Given the description of an element on the screen output the (x, y) to click on. 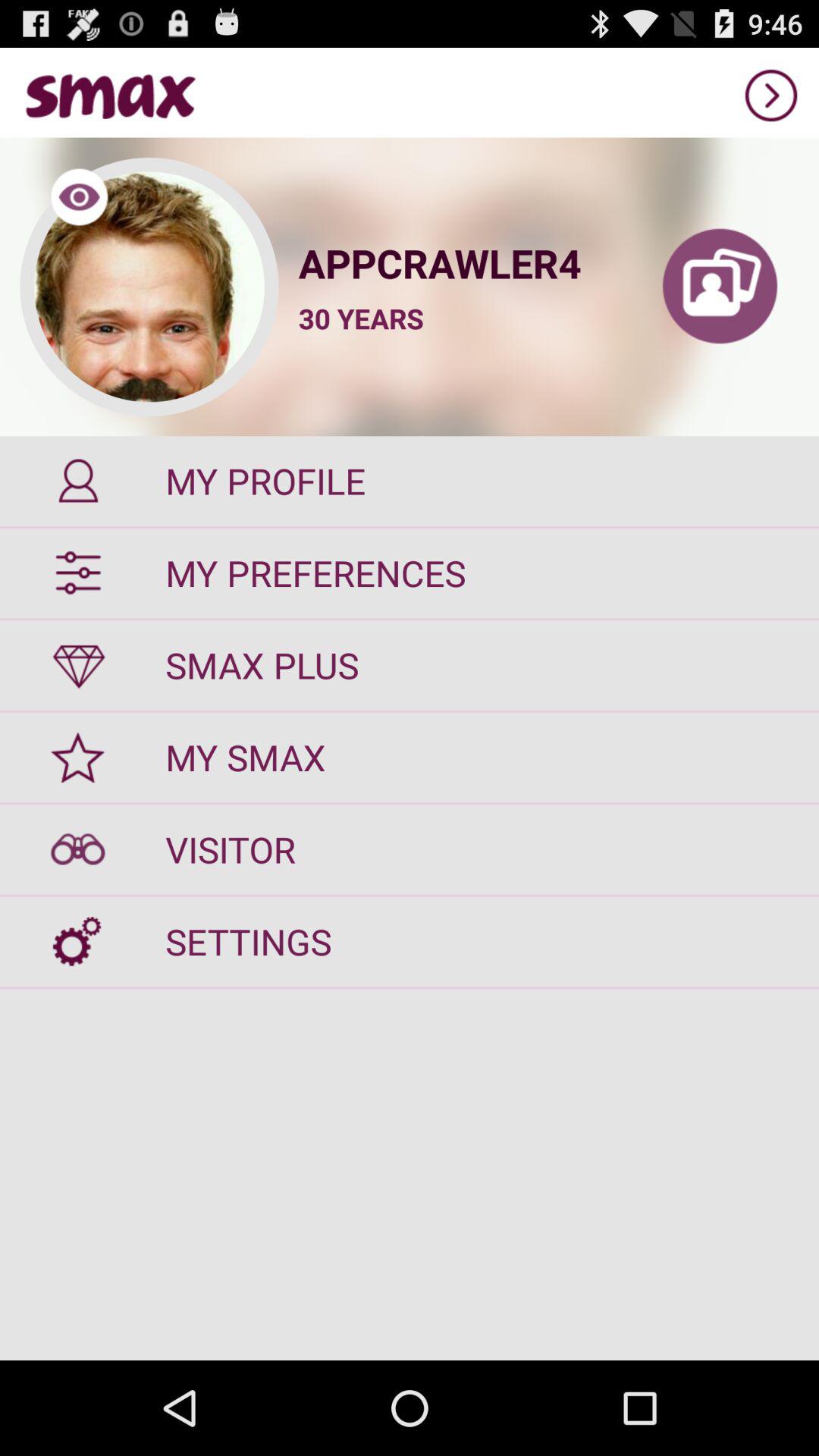
profile photo view button (148, 286)
